Given the description of an element on the screen output the (x, y) to click on. 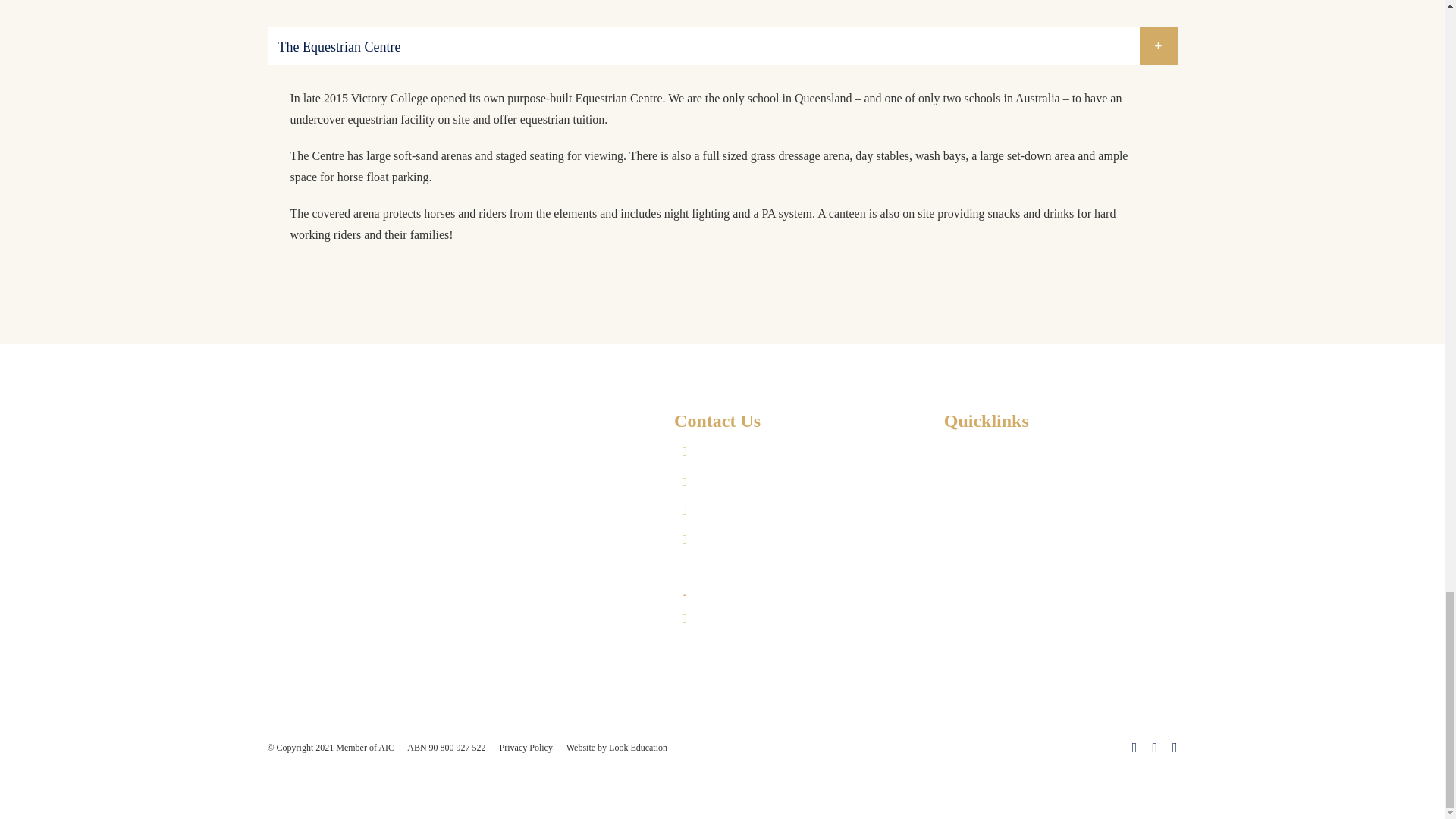
logo-footer (366, 443)
Copyright-logos (360, 784)
